Given the description of an element on the screen output the (x, y) to click on. 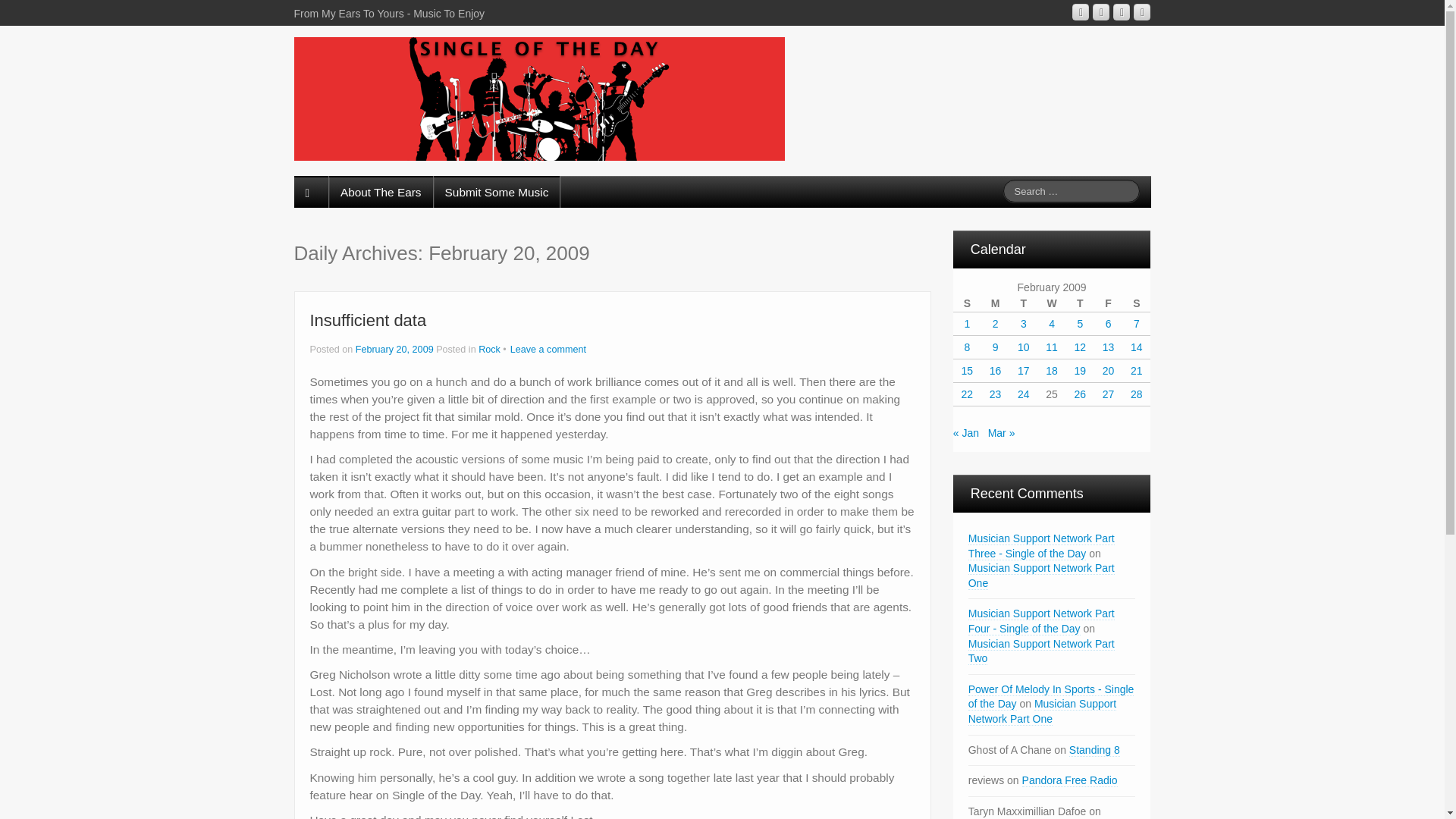
5:00 am (395, 348)
11 (1051, 346)
Permalink to Insufficient data (367, 320)
Friday (1108, 303)
24 (1023, 394)
13 (1108, 346)
Tuesday (1022, 303)
Single of the Day (539, 97)
18 (1051, 370)
Submit Some Music (496, 192)
Single of the Day Facebook (1121, 12)
1 (966, 323)
Rock (489, 348)
4 (1051, 323)
Insufficient data (367, 320)
